Given the description of an element on the screen output the (x, y) to click on. 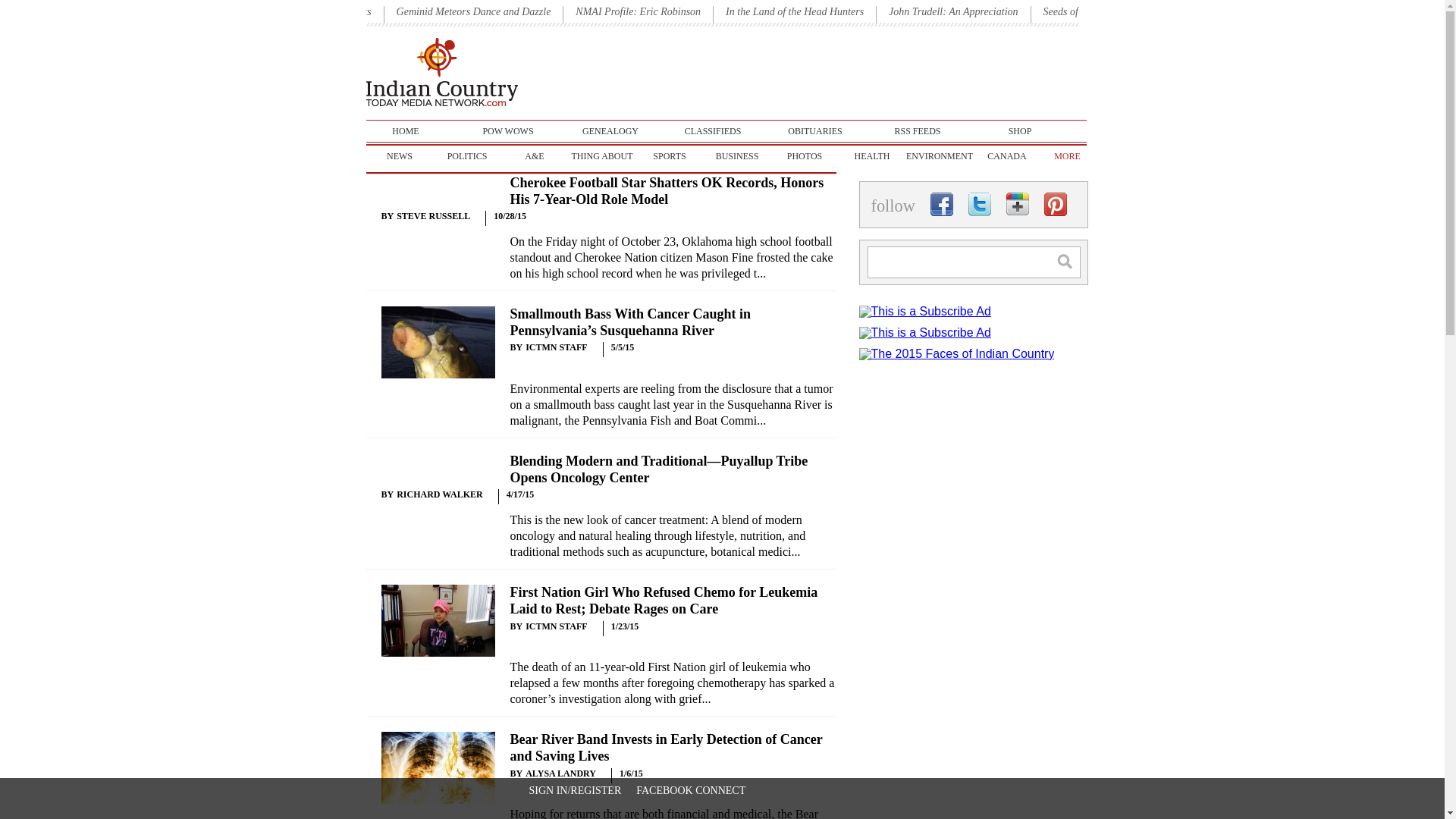
HOME (405, 130)
POW WOWS (508, 130)
Login Using Facebok (690, 790)
CLASSIFIEDS (712, 130)
POLITICS (466, 156)
ENVIRONMENT (938, 156)
CANADA (1007, 156)
Seeds of Native Health: Affecting Change (1131, 11)
SPORTS (668, 156)
EDUCATION (1074, 156)
Alcatraz Swimmers Build Healthy Habits (283, 11)
Smoke in Lungs iStock (437, 767)
Geminid Meteors Dance and Dazzle (473, 11)
